Given the description of an element on the screen output the (x, y) to click on. 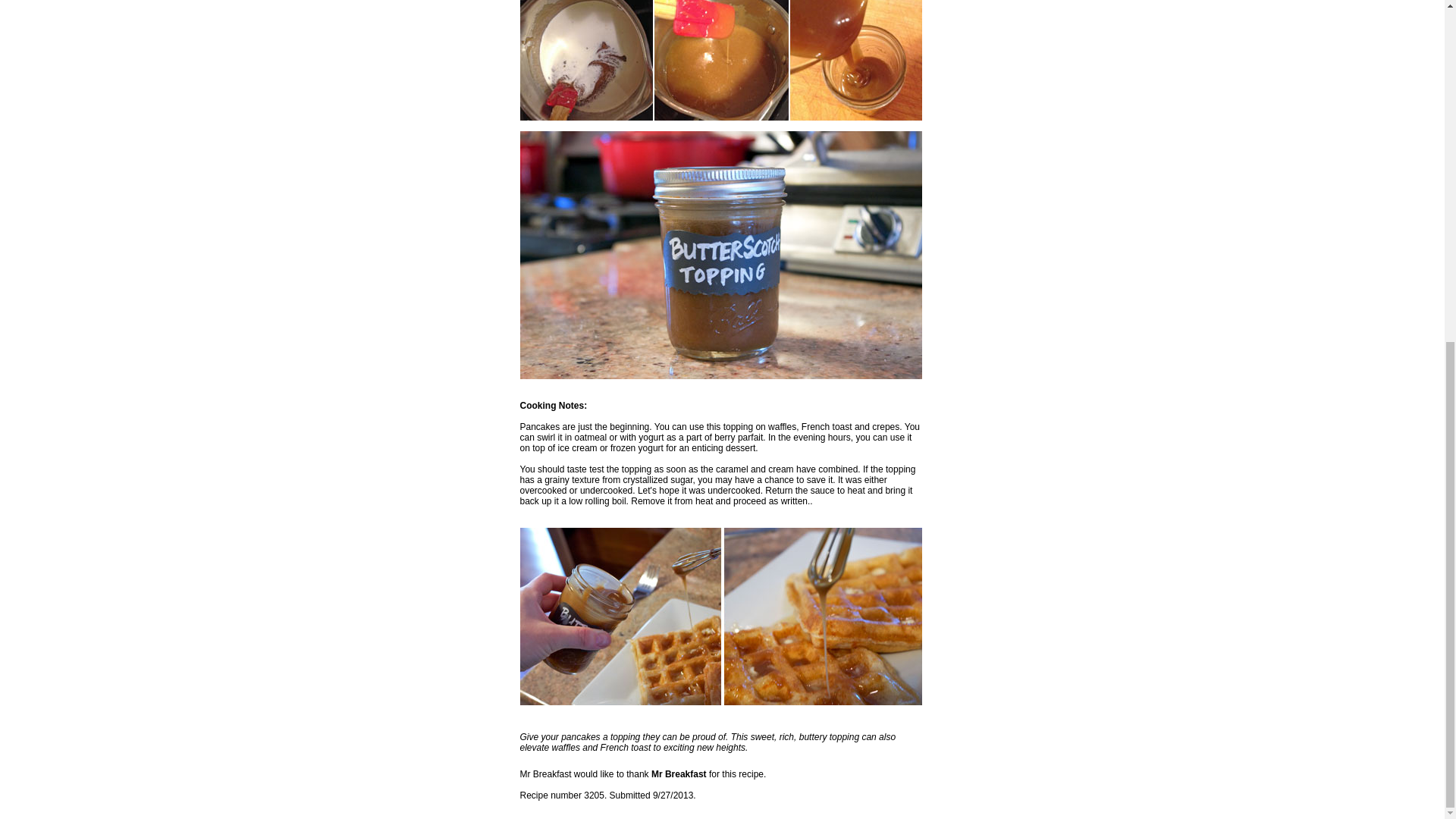
Butterscotch Topping On Waffles (720, 616)
